Given the description of an element on the screen output the (x, y) to click on. 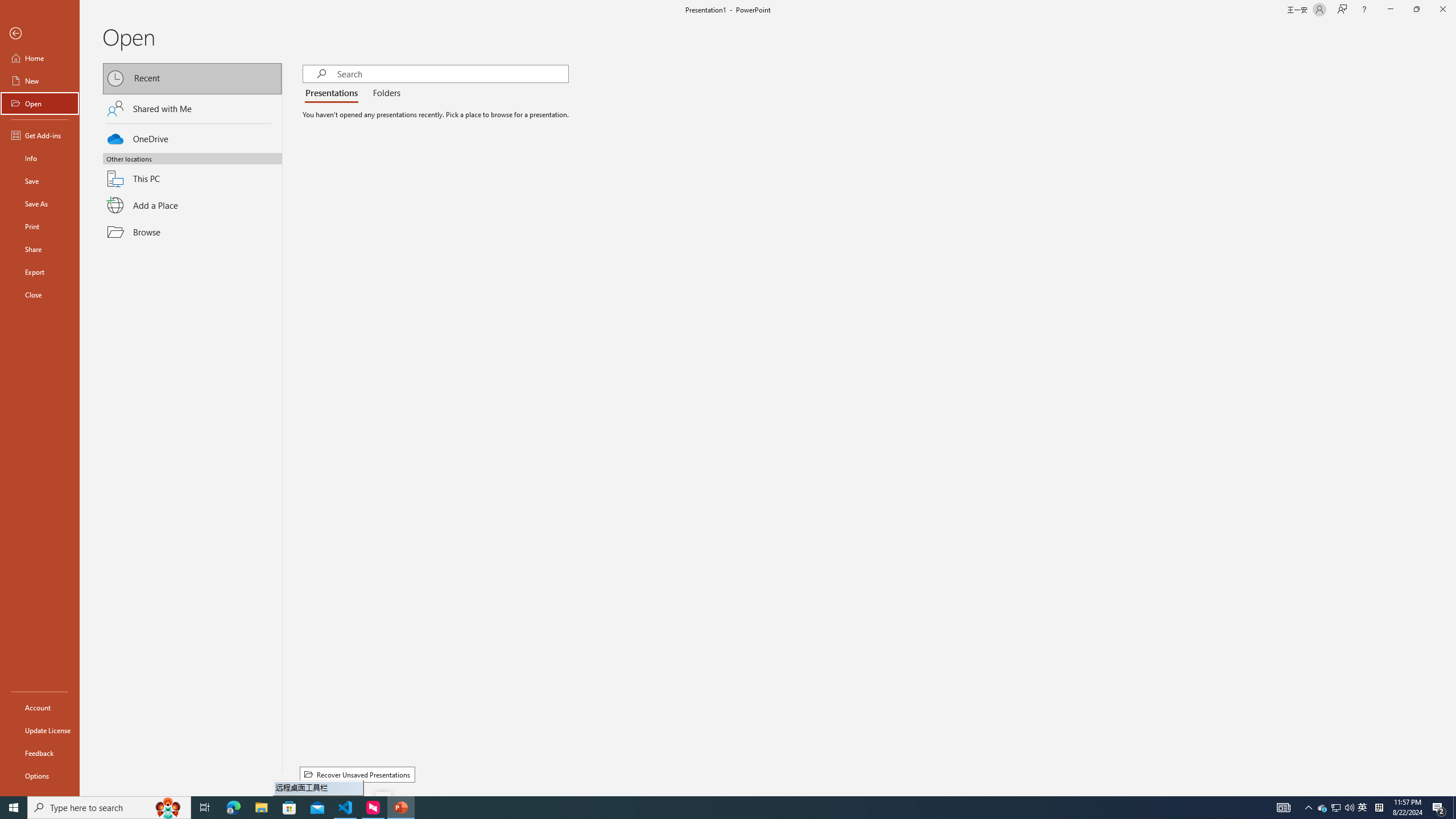
Info (40, 157)
Get Add-ins (40, 134)
Recent (192, 78)
Browse (192, 231)
Folders (384, 93)
Add a Place (192, 204)
Export (40, 271)
Account (40, 707)
Print (40, 225)
